Given the description of an element on the screen output the (x, y) to click on. 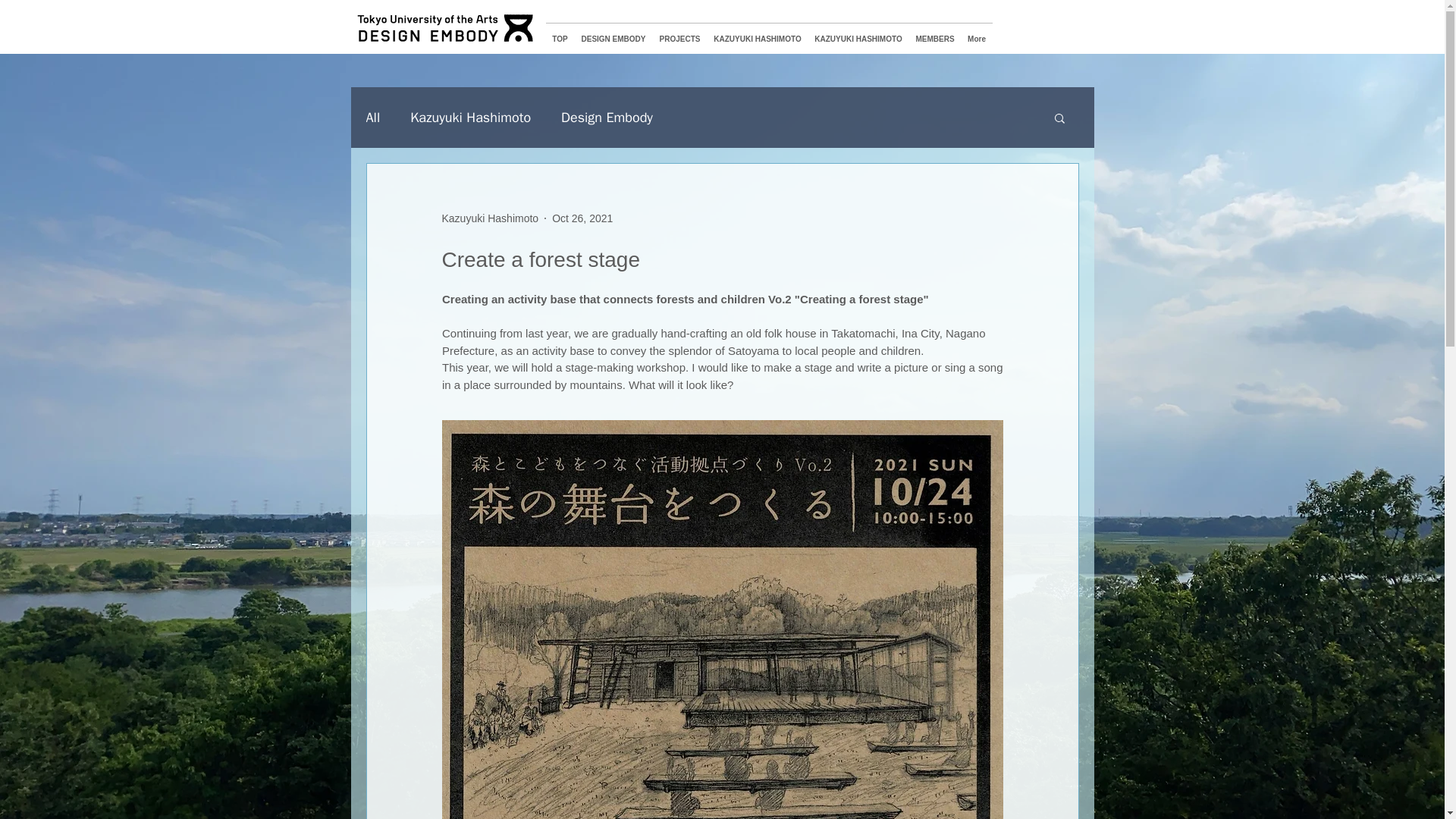
DESIGN EMBODY (613, 32)
Oct 26, 2021 (581, 218)
Kazuyuki Hashimoto (489, 218)
Design Embody (606, 117)
MEMBERS (934, 32)
KAZUYUKI HASHIMOTO (858, 32)
KAZUYUKI HASHIMOTO (757, 32)
TOP (560, 32)
PROJECTS (679, 32)
Kazuyuki Hashimoto (470, 117)
